Given the description of an element on the screen output the (x, y) to click on. 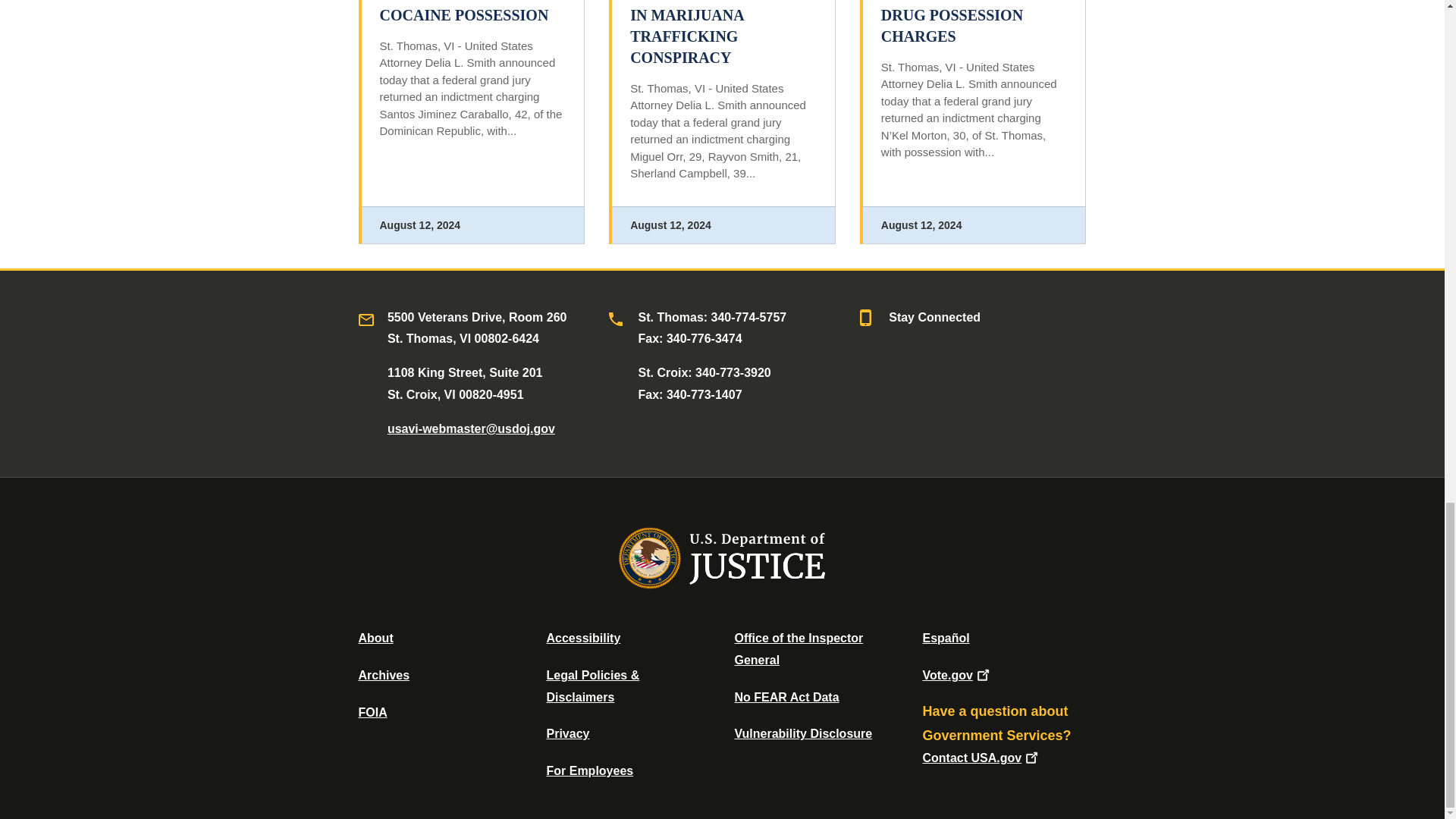
Office of Information Policy (372, 712)
Data Posted Pursuant To The No Fear Act (785, 697)
About DOJ (375, 637)
For Employees (589, 770)
Legal Policies and Disclaimers (592, 686)
Accessibility Statement (583, 637)
Department of Justice Archive (383, 675)
